Given the description of an element on the screen output the (x, y) to click on. 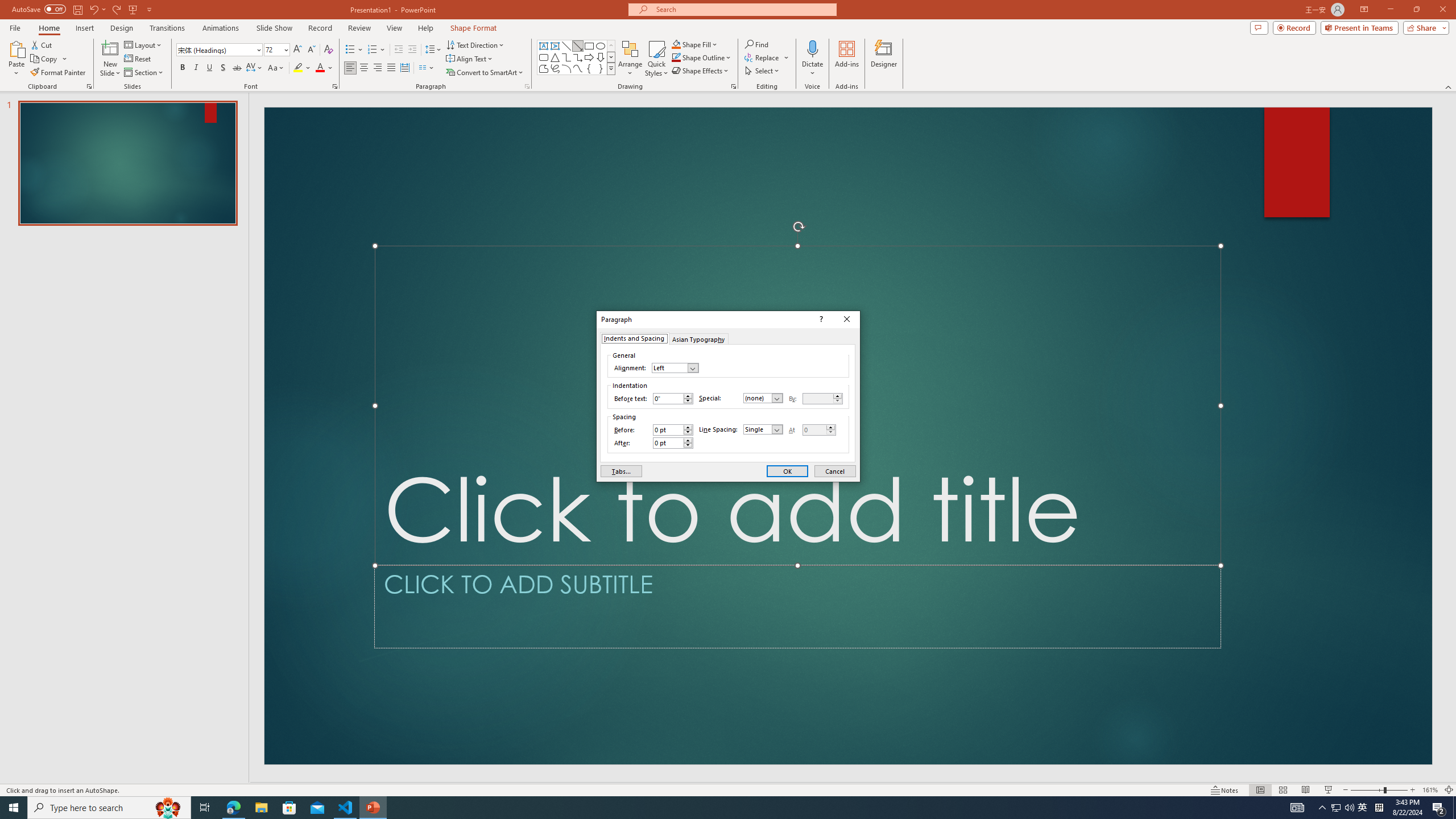
Alignment (675, 367)
